Given the description of an element on the screen output the (x, y) to click on. 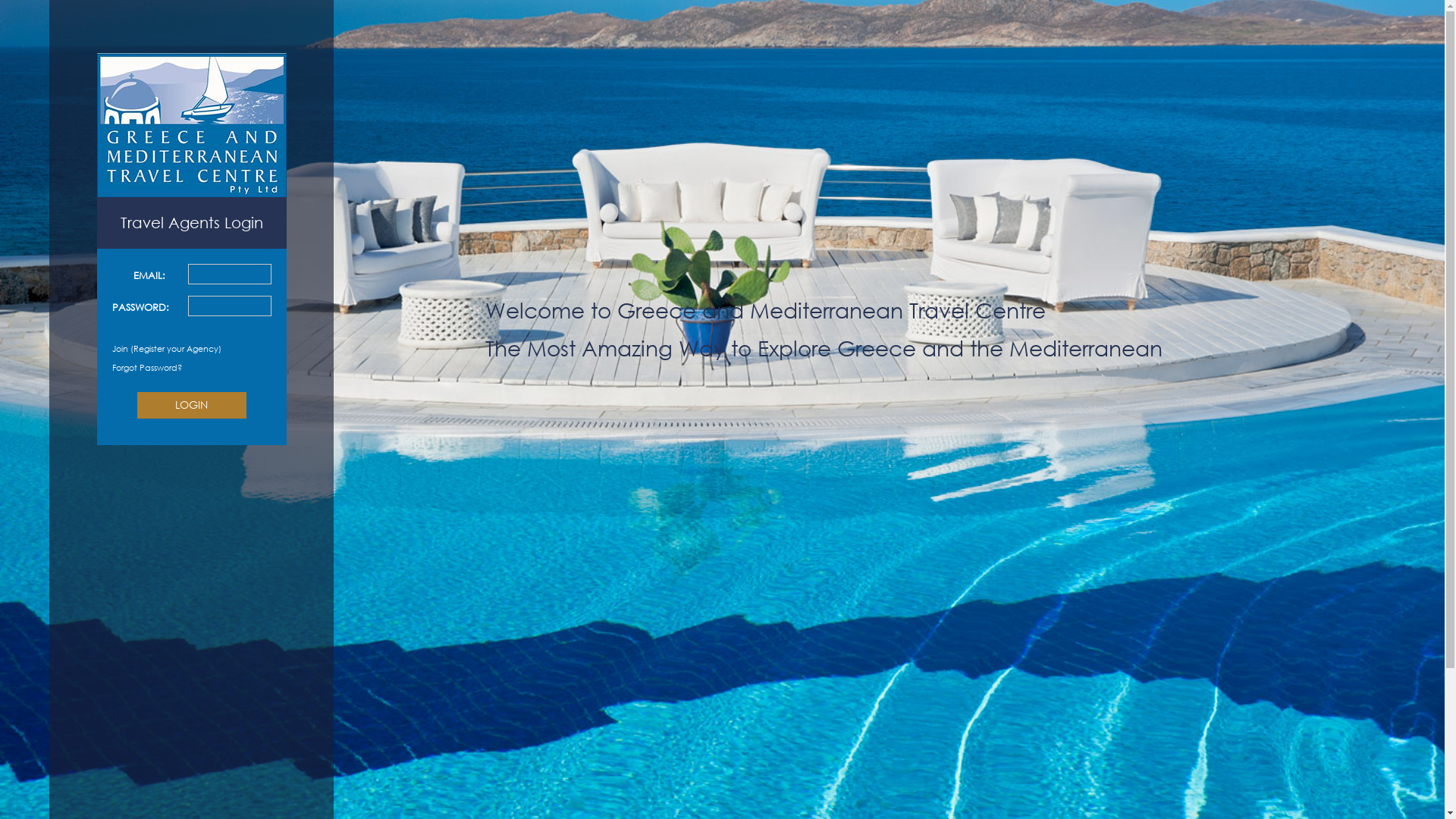
Join (Register your Agency) Element type: text (166, 348)
Forgot Password? Element type: text (147, 367)
LOGIN Element type: text (190, 405)
